Given the description of an element on the screen output the (x, y) to click on. 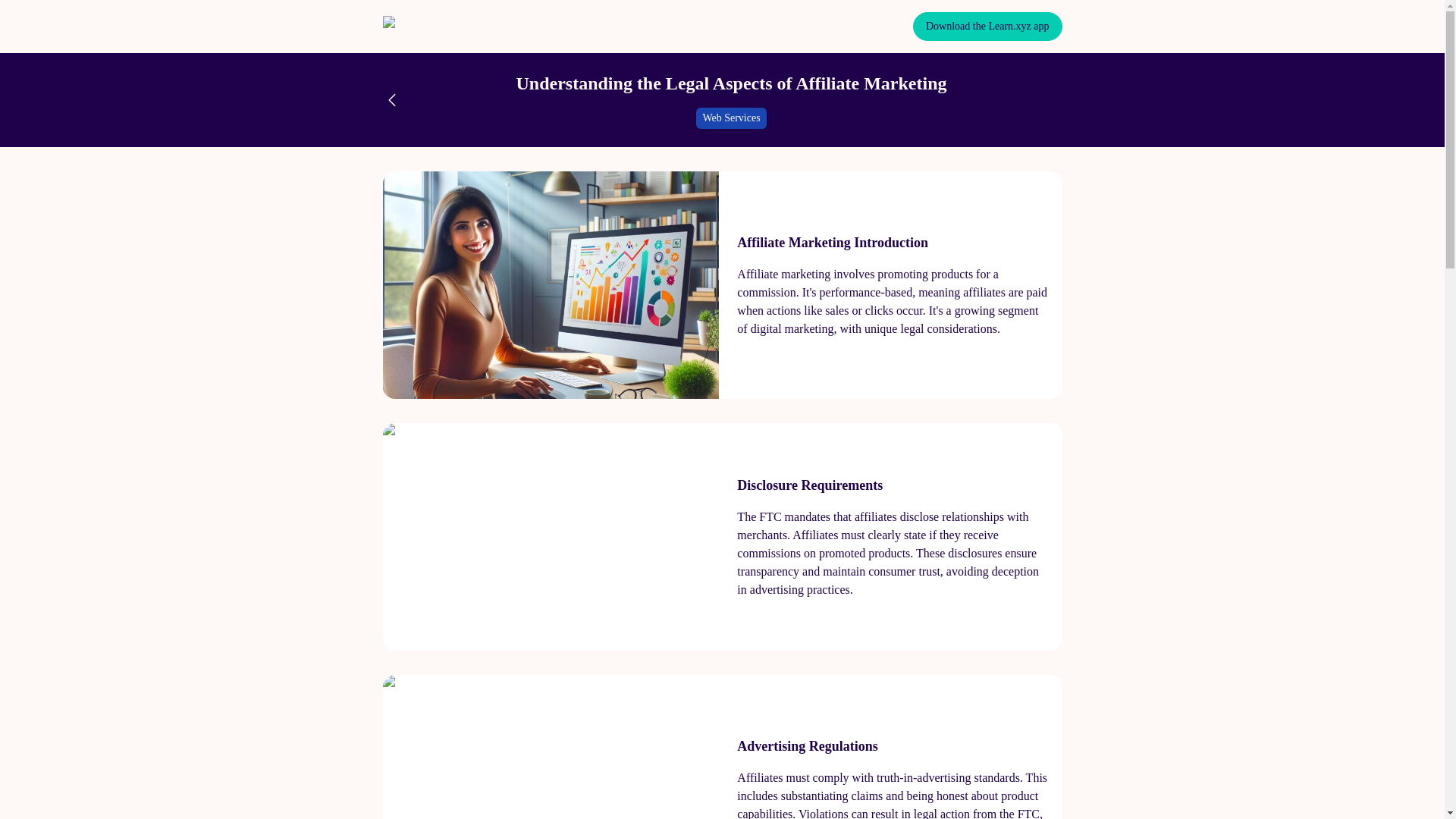
Download the Learn.xyz app (987, 26)
Web Services (730, 117)
